Given the description of an element on the screen output the (x, y) to click on. 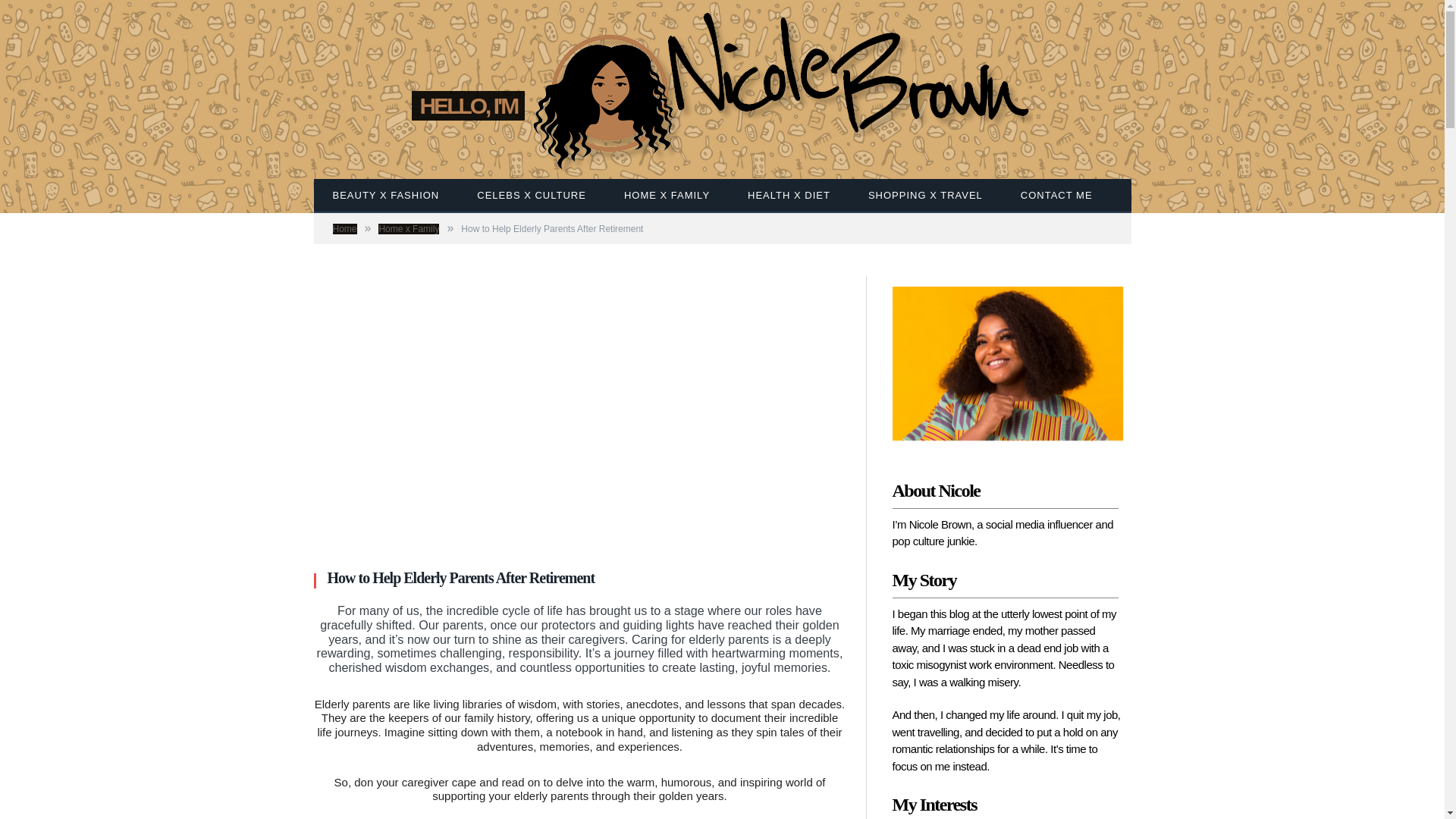
Nicole Brown (782, 84)
CONTACT ME (1056, 195)
BEAUTY X FASHION (386, 195)
HOME X FAMILY (667, 195)
Home x Family (408, 228)
SHOPPING X TRAVEL (924, 195)
CELEBS X CULTURE (531, 195)
HEALTH X DIET (788, 195)
Home (343, 228)
